Given the description of an element on the screen output the (x, y) to click on. 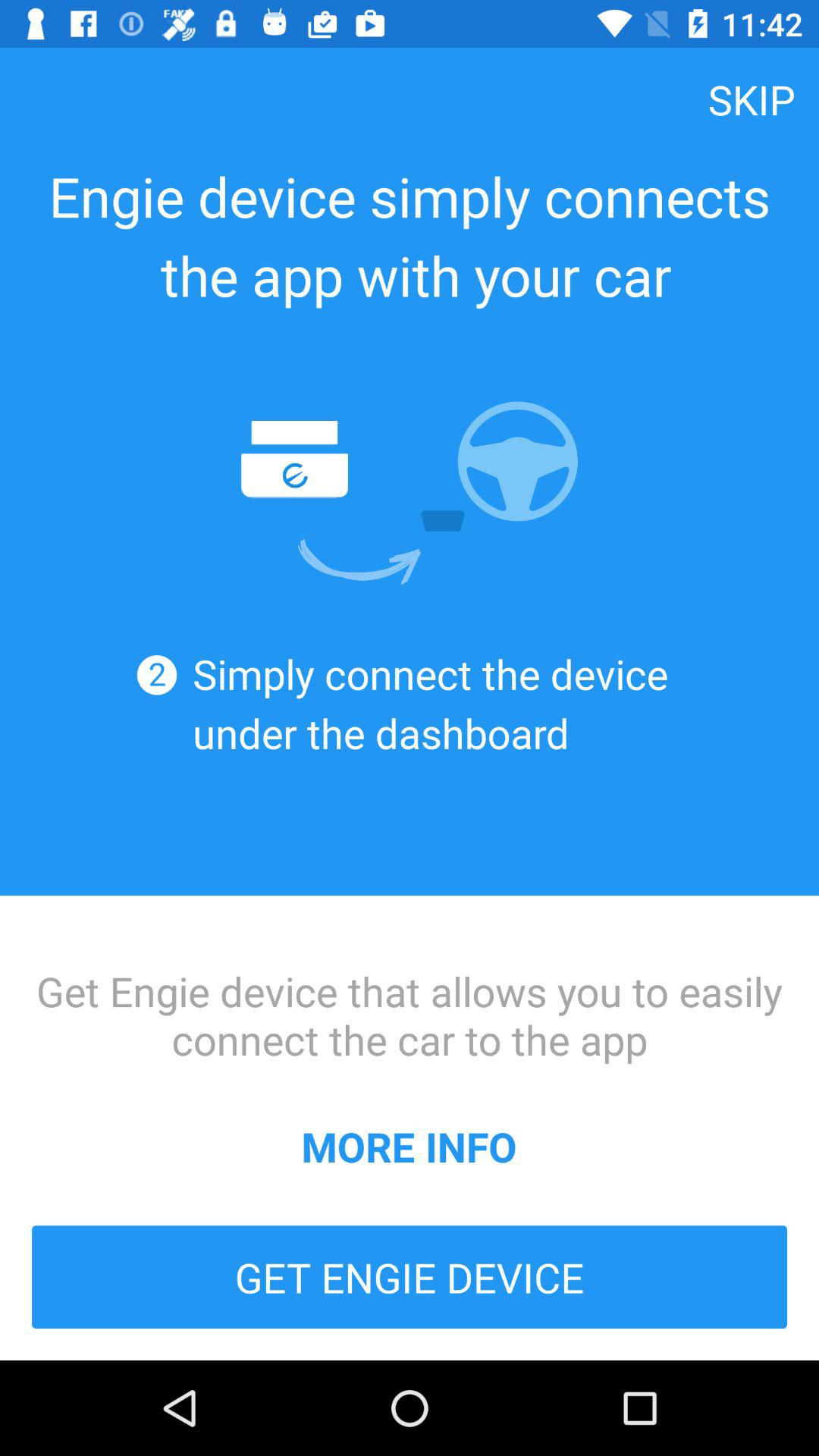
press the icon above get engie device item (408, 1145)
